Given the description of an element on the screen output the (x, y) to click on. 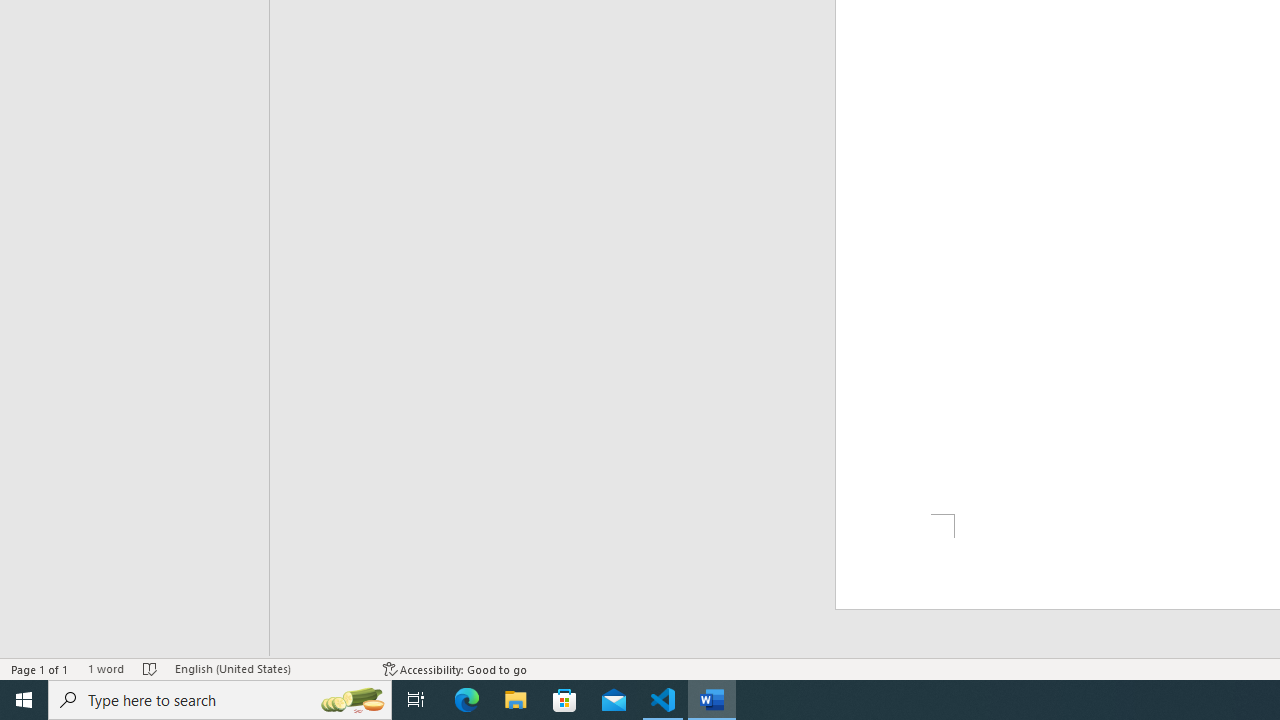
Search highlights icon opens search home window (351, 699)
Microsoft Store (565, 699)
Type here to search (219, 699)
Task View (415, 699)
Start (24, 699)
File Explorer (516, 699)
Microsoft Edge (466, 699)
Word - 1 running window (712, 699)
Visual Studio Code - 1 running window (663, 699)
